Given the description of an element on the screen output the (x, y) to click on. 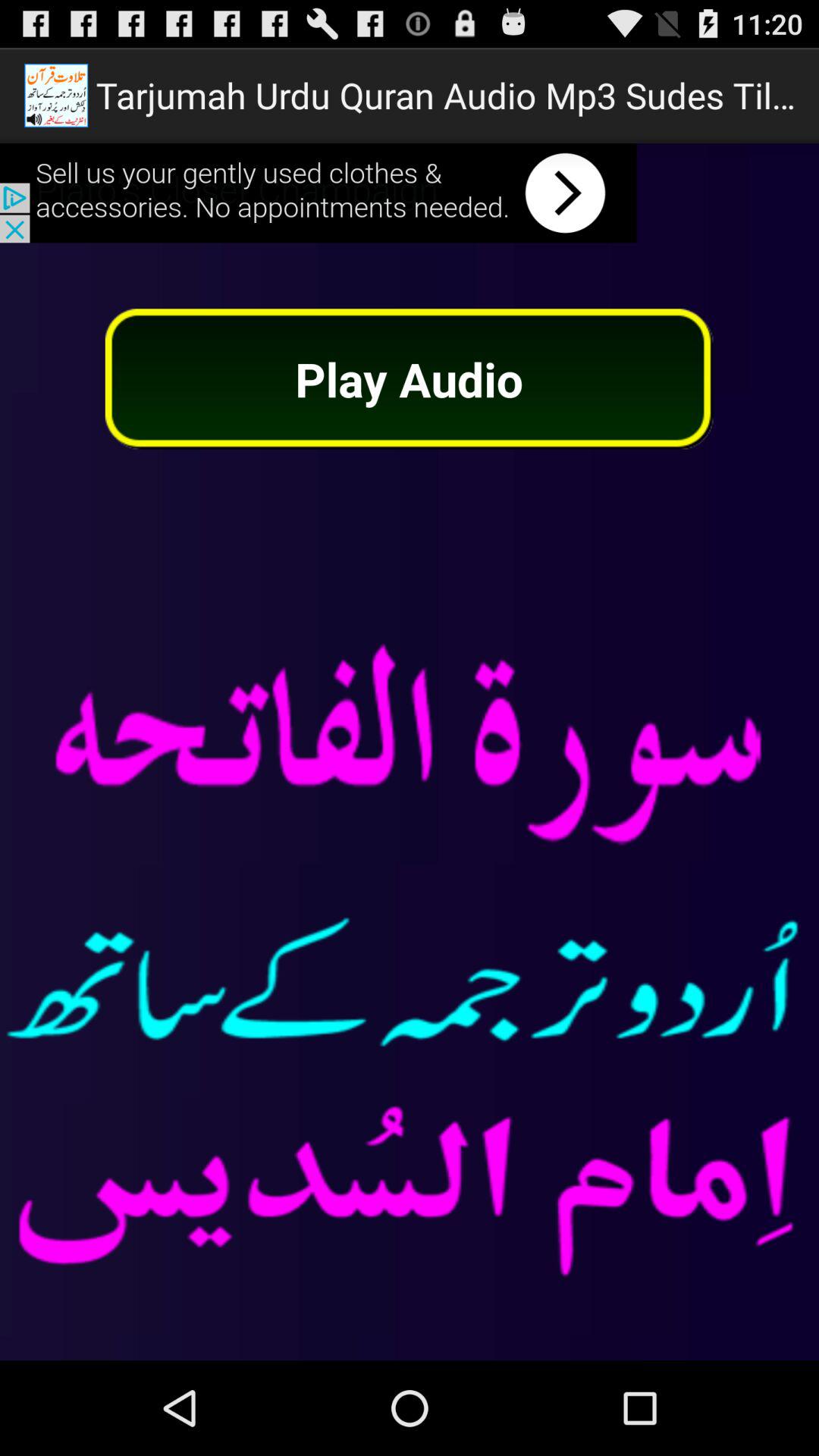
advertisement banner (318, 192)
